Given the description of an element on the screen output the (x, y) to click on. 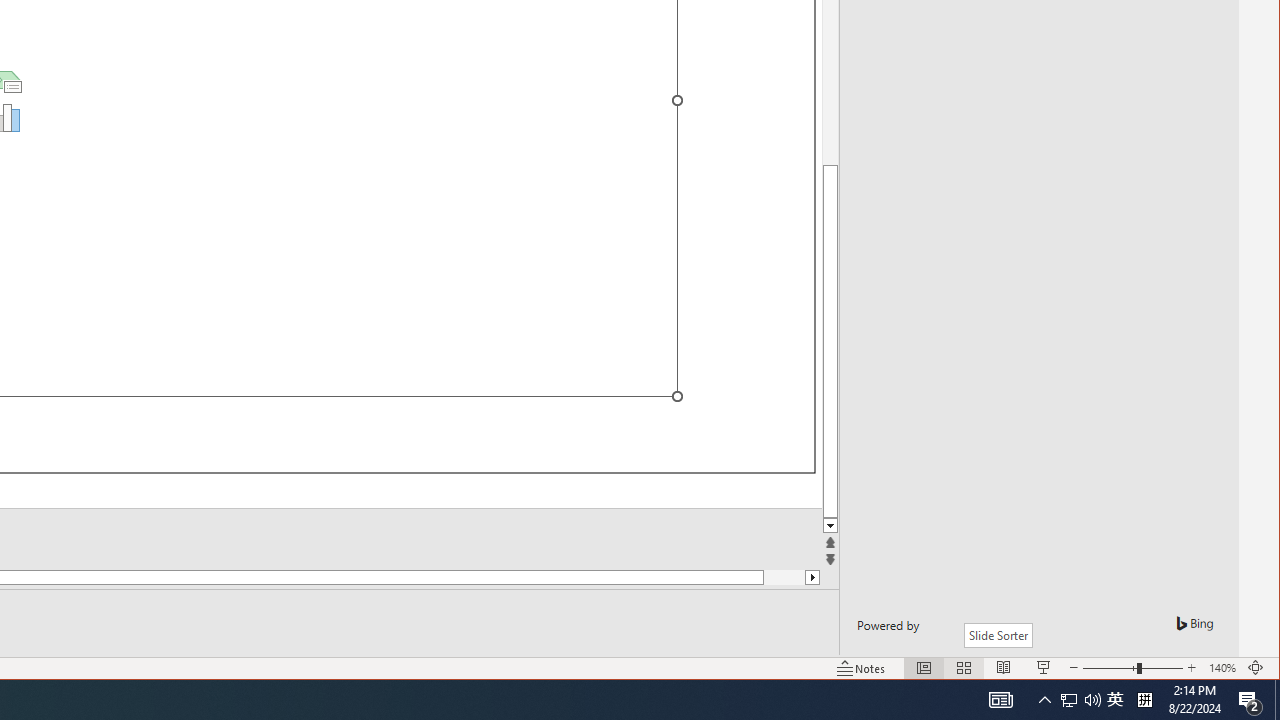
Zoom 140% (1222, 668)
